Given the description of an element on the screen output the (x, y) to click on. 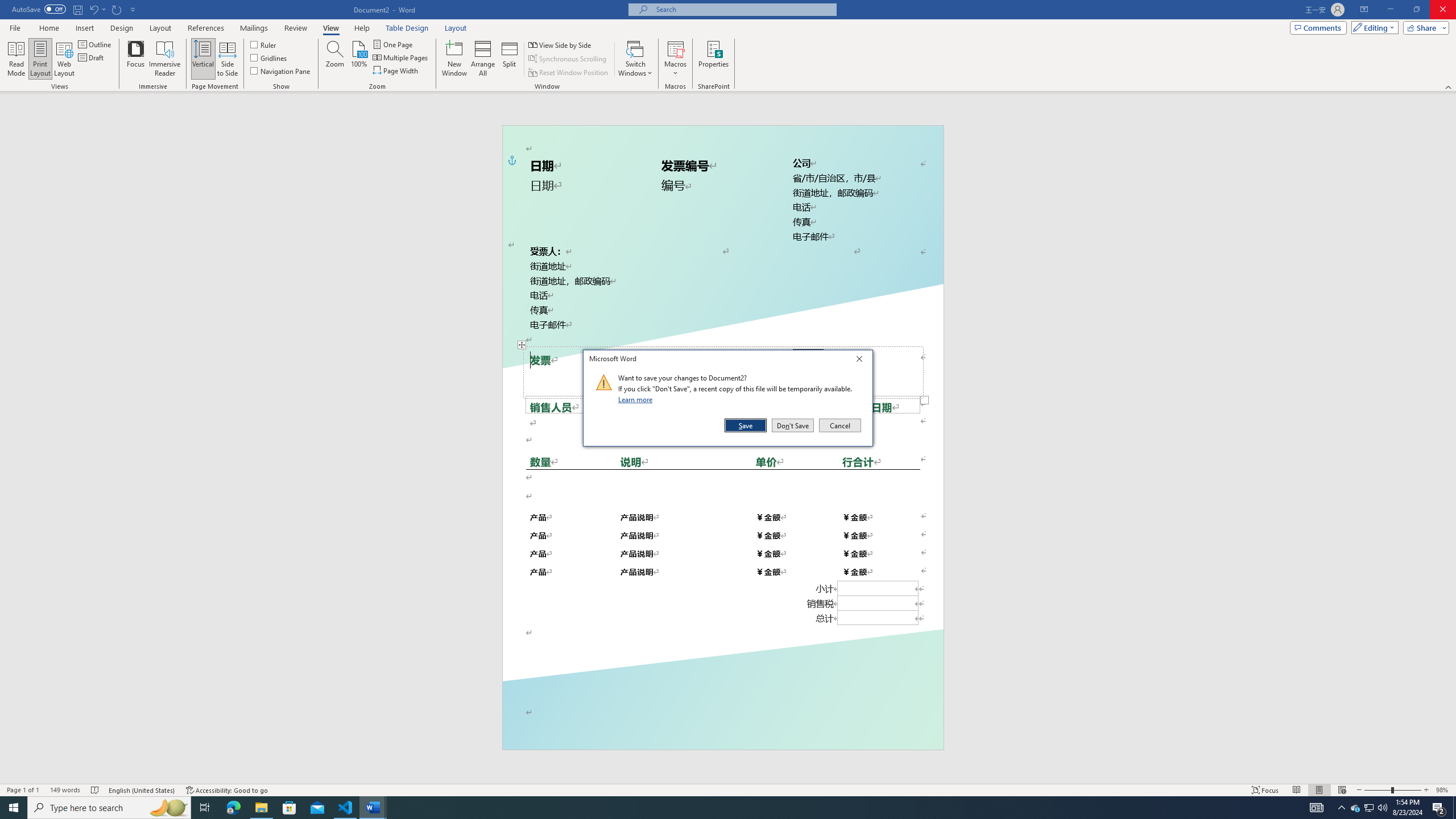
Navigation Pane (281, 69)
Arrange All (483, 58)
One Page (393, 44)
First Page Header -Section 1- (722, 140)
Immersive Reader (165, 58)
